Given the description of an element on the screen output the (x, y) to click on. 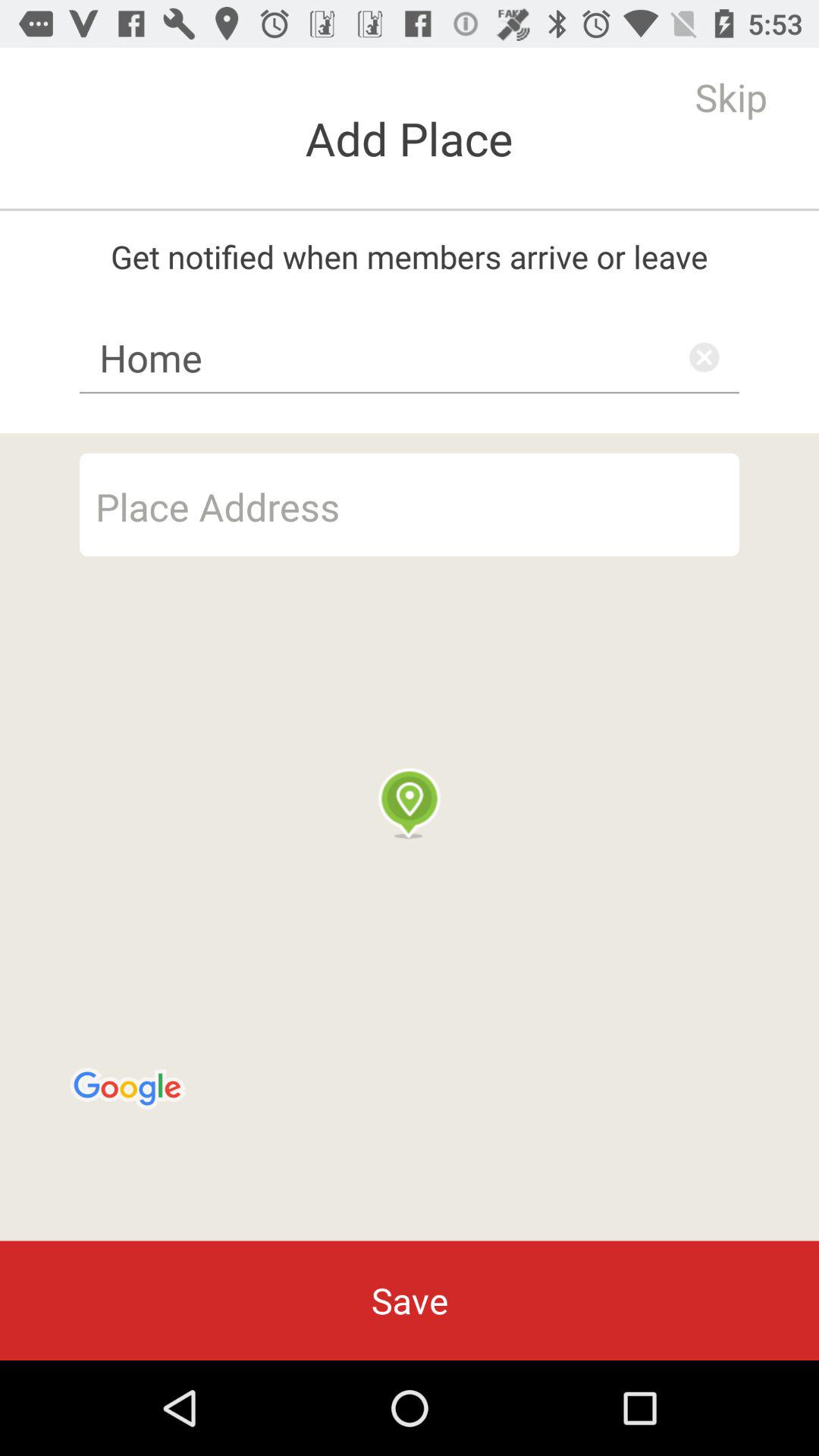
select icon below the home item (409, 837)
